Given the description of an element on the screen output the (x, y) to click on. 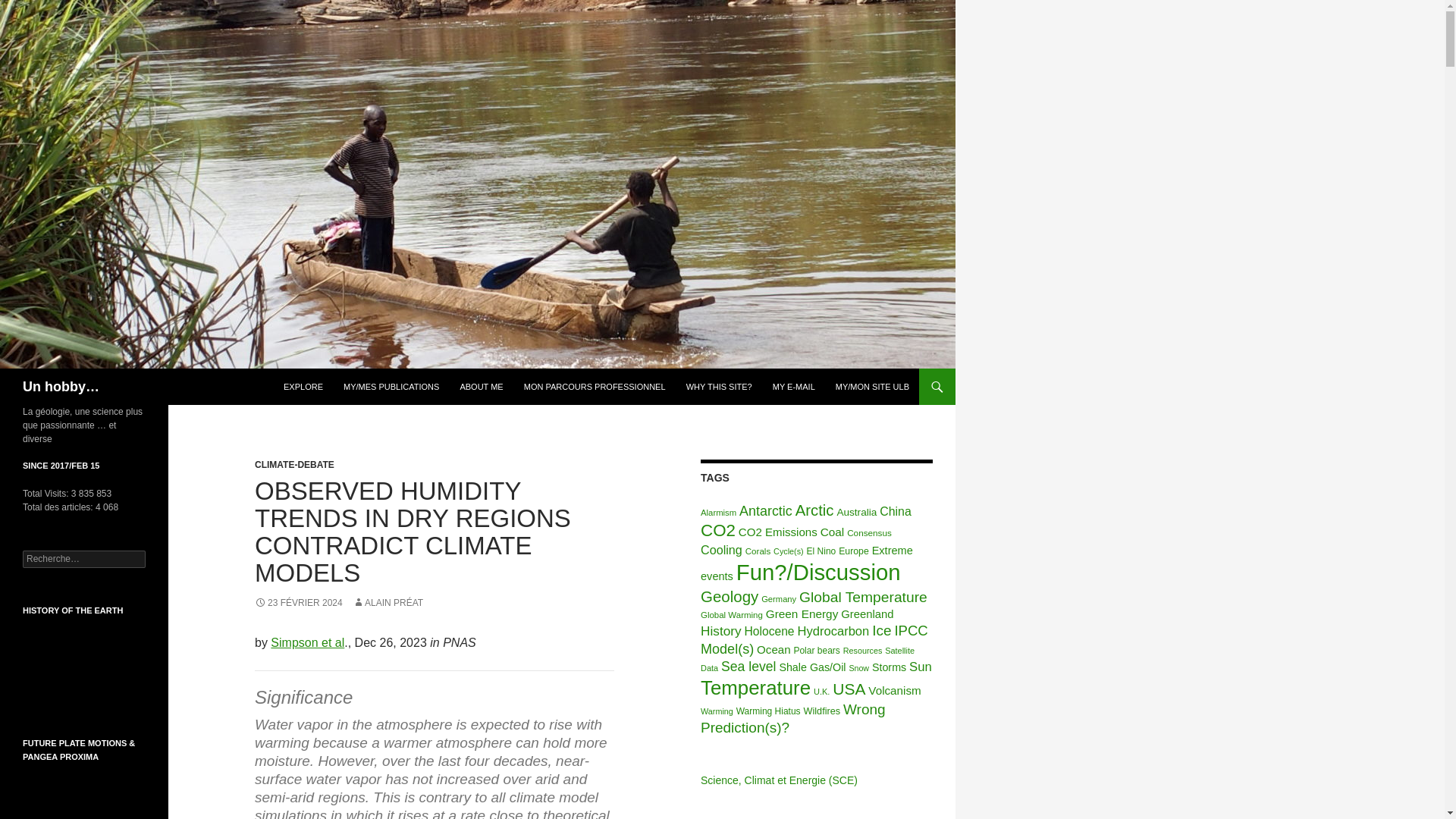
Alarmism (718, 511)
Geology (729, 596)
Australia (855, 511)
Corals (758, 551)
Antarctic (765, 510)
CLIMATE-DEBATE (294, 464)
WHY THIS SITE? (719, 386)
CO2 (717, 529)
MON PARCOURS PROFESSIONNEL (595, 386)
Extreme events (806, 563)
